Given the description of an element on the screen output the (x, y) to click on. 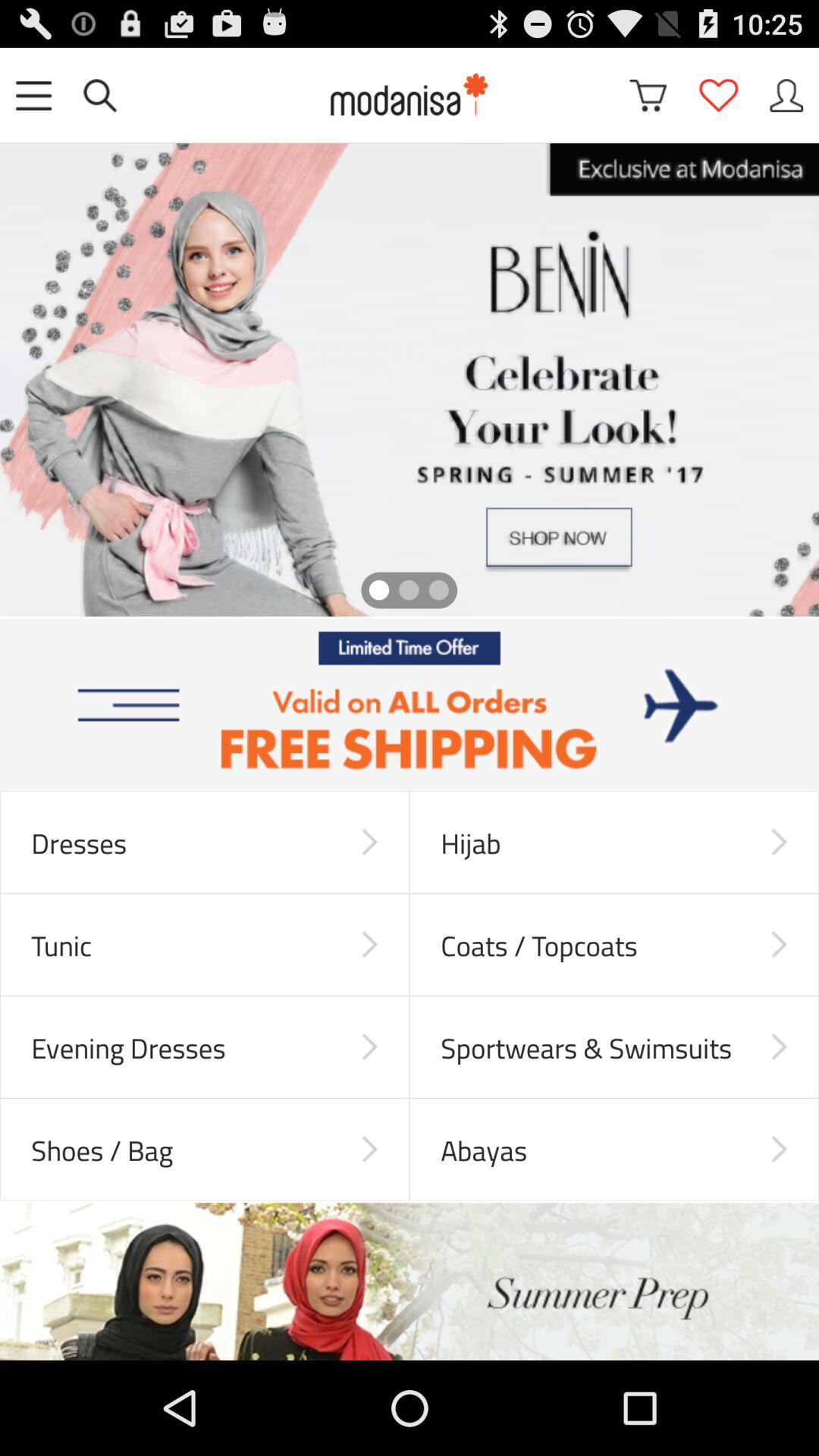
open search bar (99, 95)
